Given the description of an element on the screen output the (x, y) to click on. 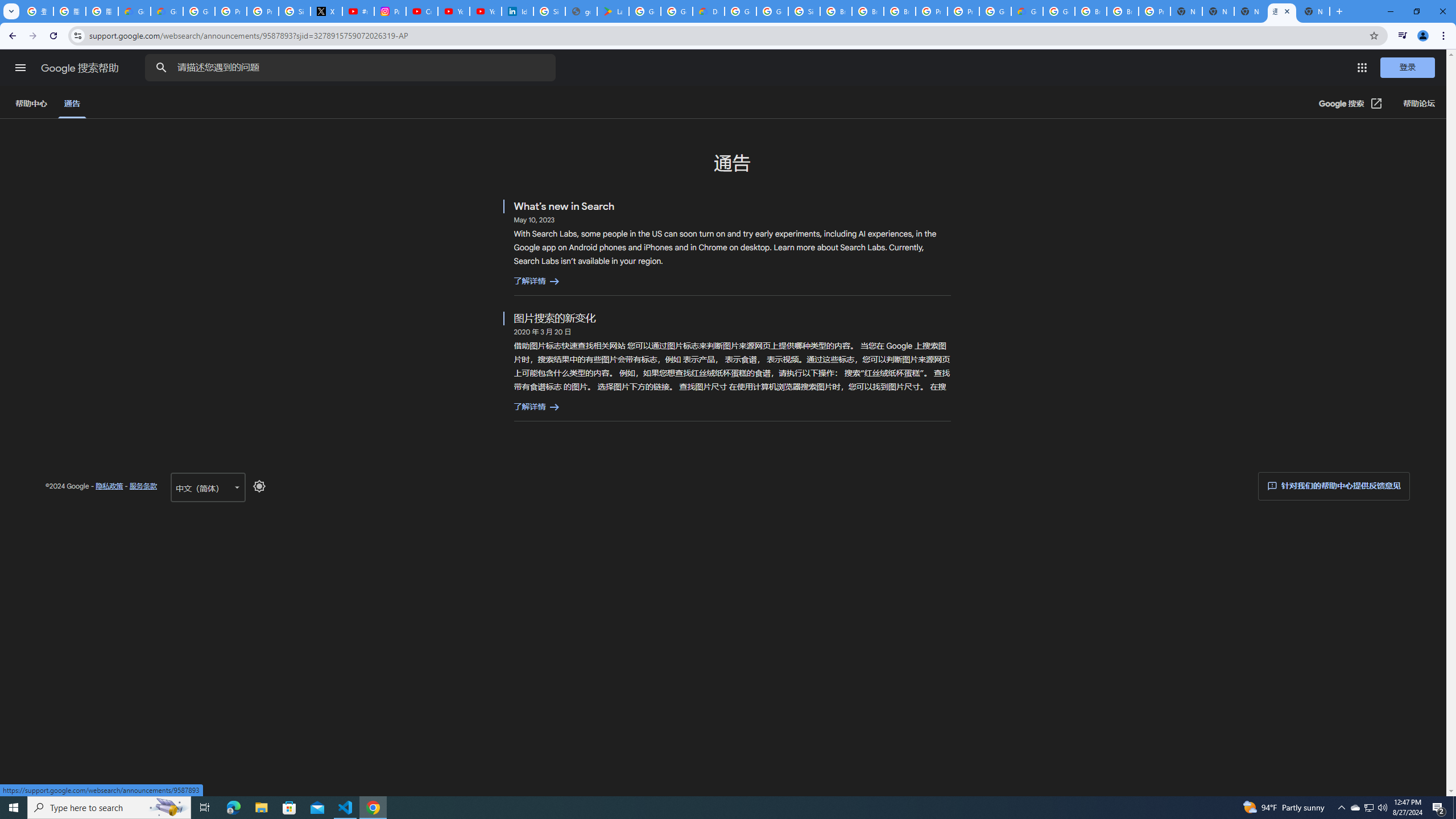
Google Workspace - Specific Terms (676, 11)
New Tab (1185, 11)
Browse Chrome as a guest - Computer - Google Chrome Help (836, 11)
Google Cloud Platform (995, 11)
